Given the description of an element on the screen output the (x, y) to click on. 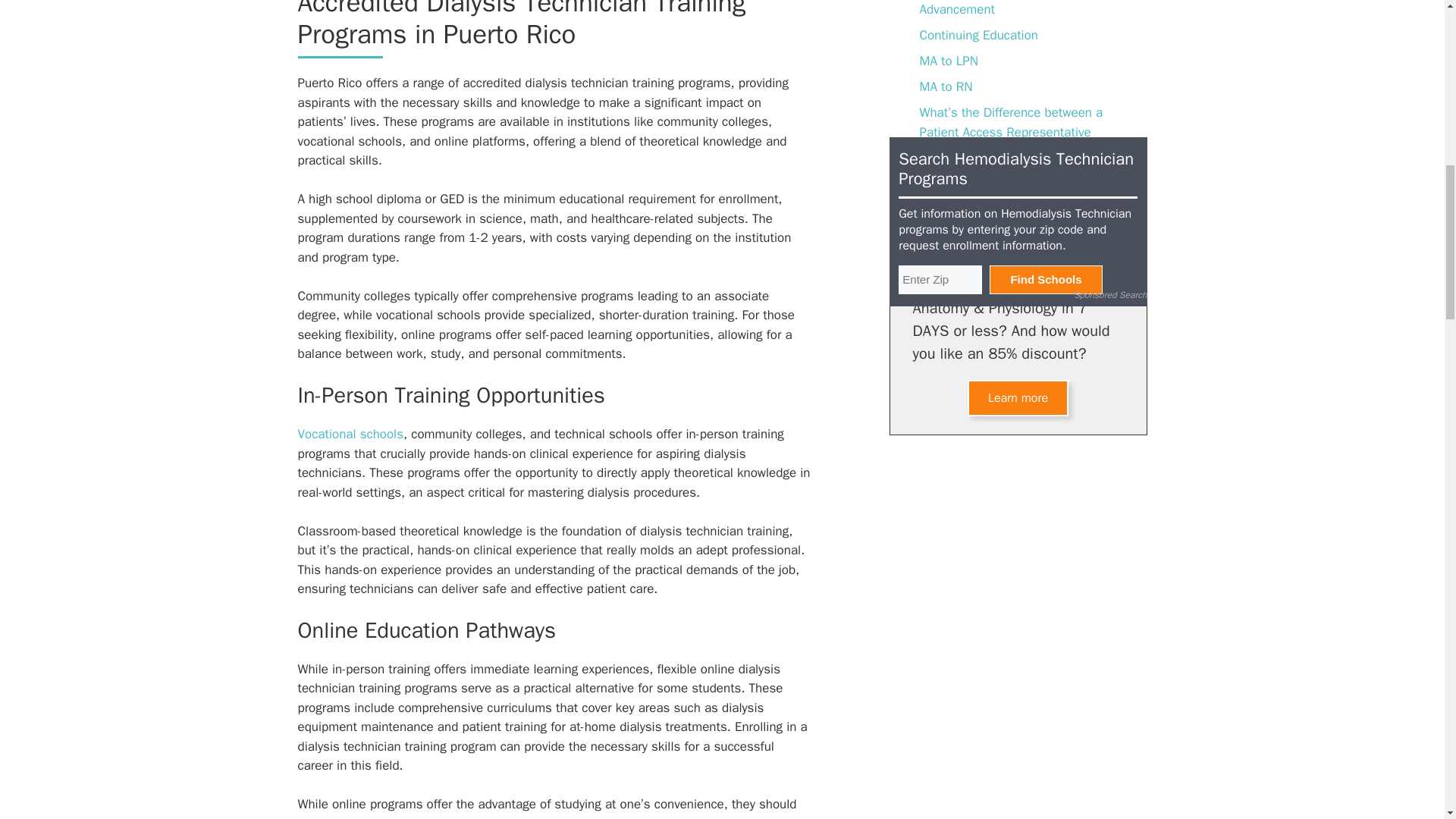
Learn more (1018, 398)
Medical Transcriptionist Training (1009, 202)
Medical Assistant Career Advancement (988, 9)
Vocational schools (350, 433)
Learn more (1018, 397)
Vocational schools (350, 433)
MA to RN (945, 86)
Continuing Education (978, 35)
LPN Schools (954, 176)
MA to LPN (947, 60)
